Given the description of an element on the screen output the (x, y) to click on. 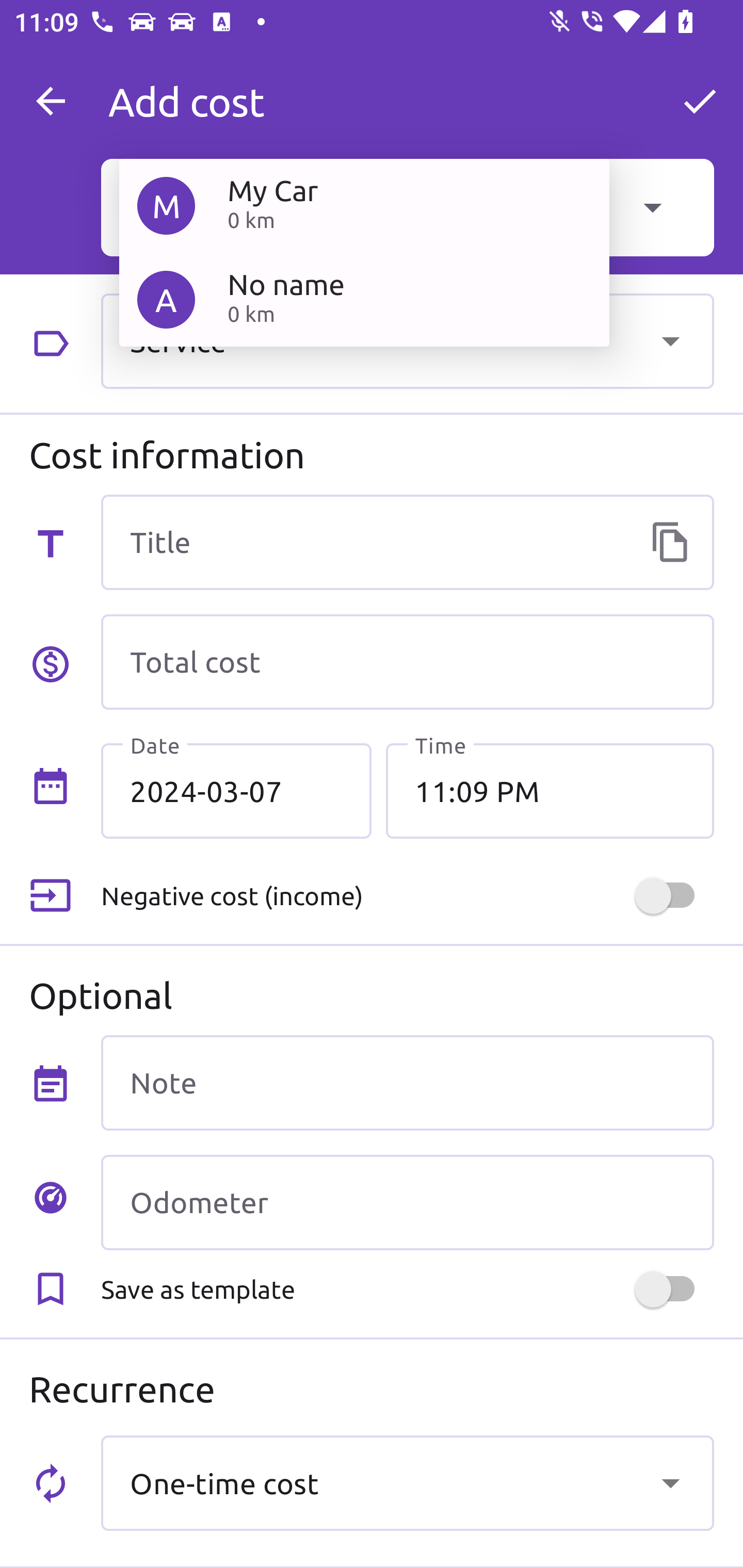
M My Car 0 km (363, 205)
A No name 0 km (363, 299)
